Given the description of an element on the screen output the (x, y) to click on. 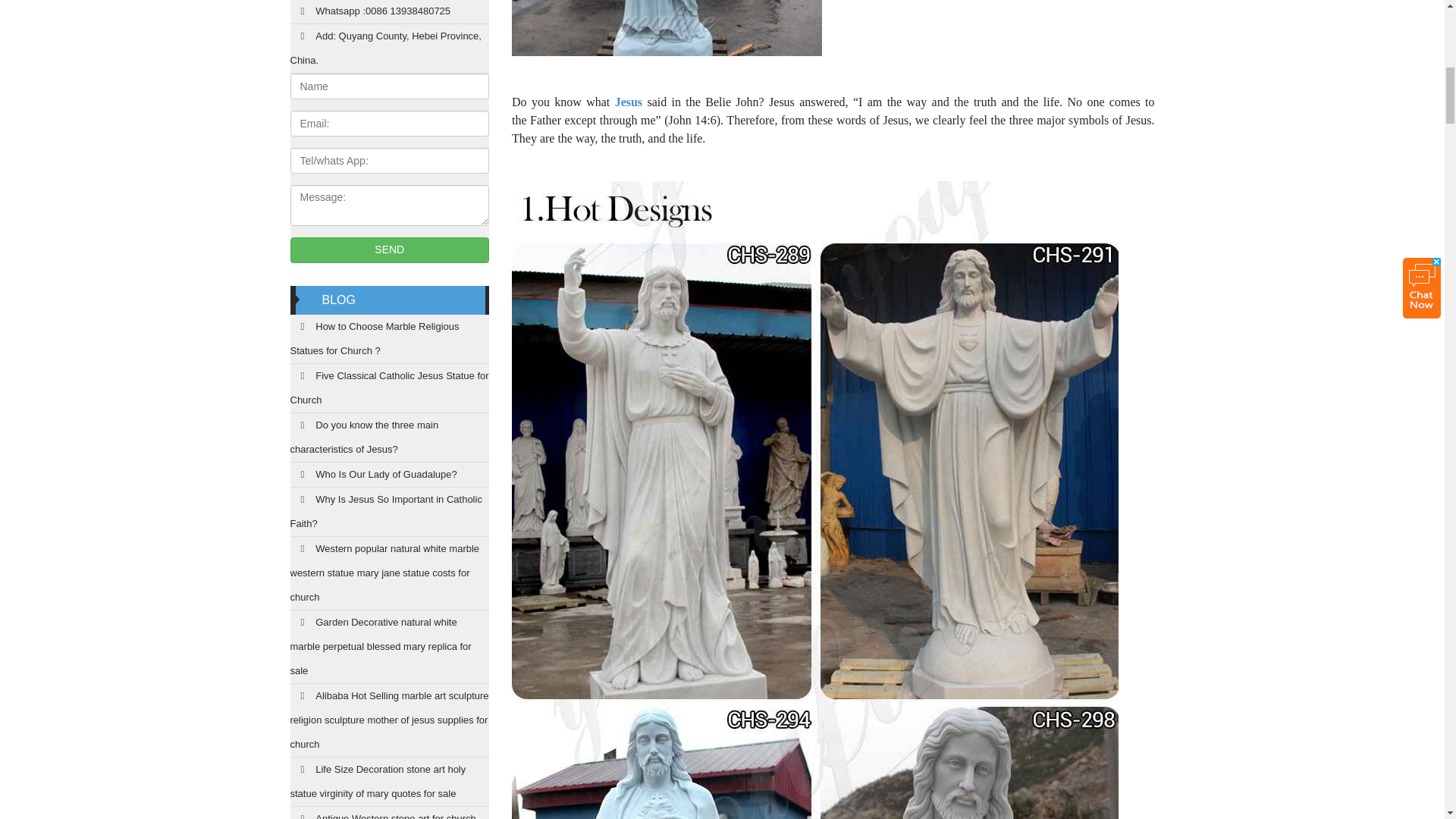
Add: Quyang County, Hebei Province, China. (389, 48)
SEND (389, 249)
Why Is Jesus So Important in Catholic Faith? (389, 512)
Why Is Jesus So Important in Catholic Faith? (389, 512)
Five Classical Catholic Jesus Statue for Church (389, 388)
Do you know the three main characteristics of Jesus? (389, 437)
Who Is Our Lady of Guadalupe? (389, 474)
Whatsapp :0086 13938480725 (389, 12)
How to Choose Marble Religious Statues for Church ? (389, 338)
Five Classical Catholic Jesus Statue for Church (389, 388)
Do you know the three main characteristics of Jesus? (389, 437)
How to Choose Marble Religious Statues for Church ? (389, 338)
Who Is Our Lady of Guadalupe? (389, 474)
